Given the description of an element on the screen output the (x, y) to click on. 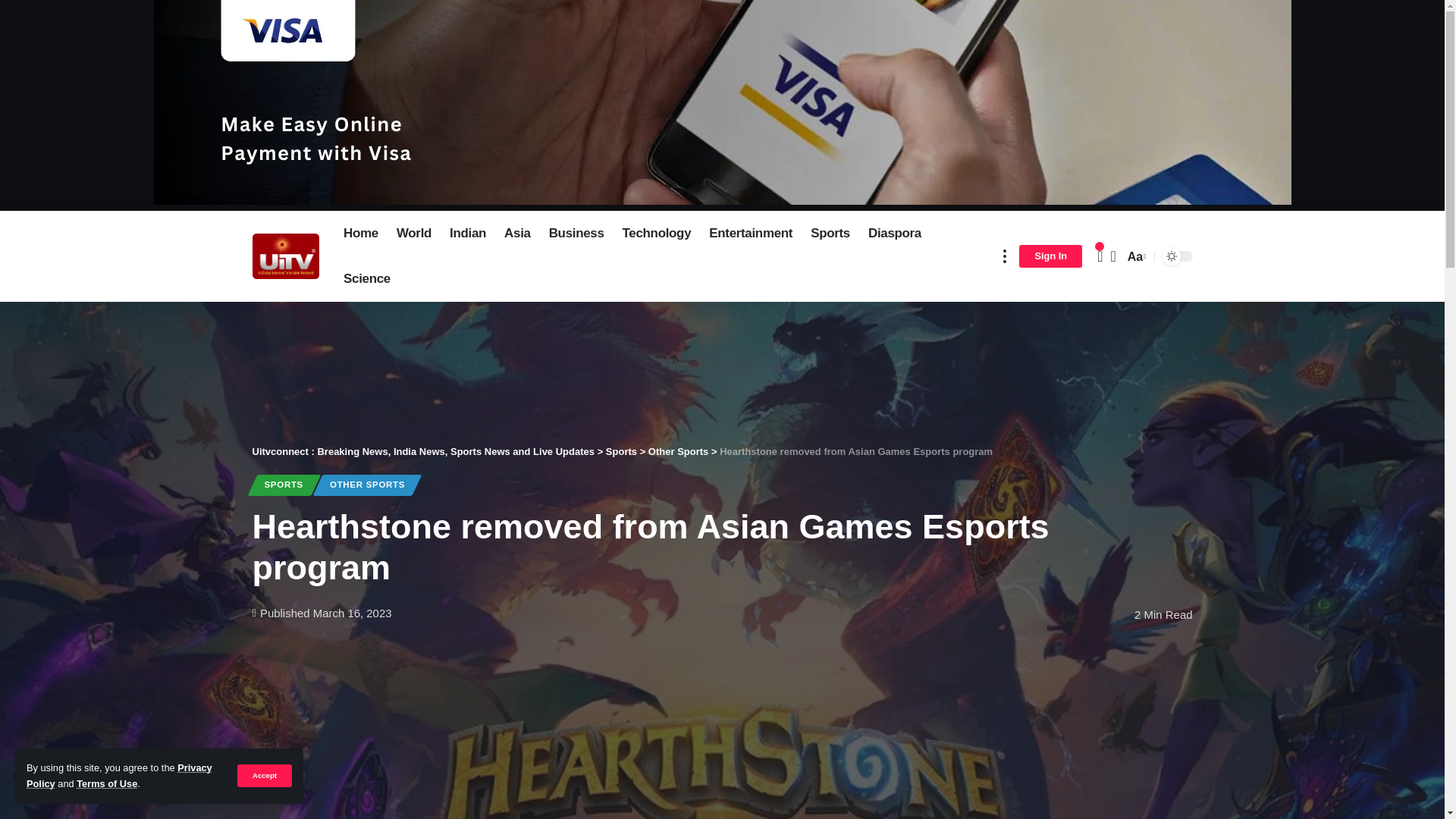
Accept (264, 775)
Privacy Policy (119, 775)
Sports (830, 233)
Go to the Other Sports Category archives. (677, 451)
Home (360, 233)
Diaspora (894, 233)
Asia (517, 233)
Indian (468, 233)
Go to the Sports Category archives. (621, 451)
